Given the description of an element on the screen output the (x, y) to click on. 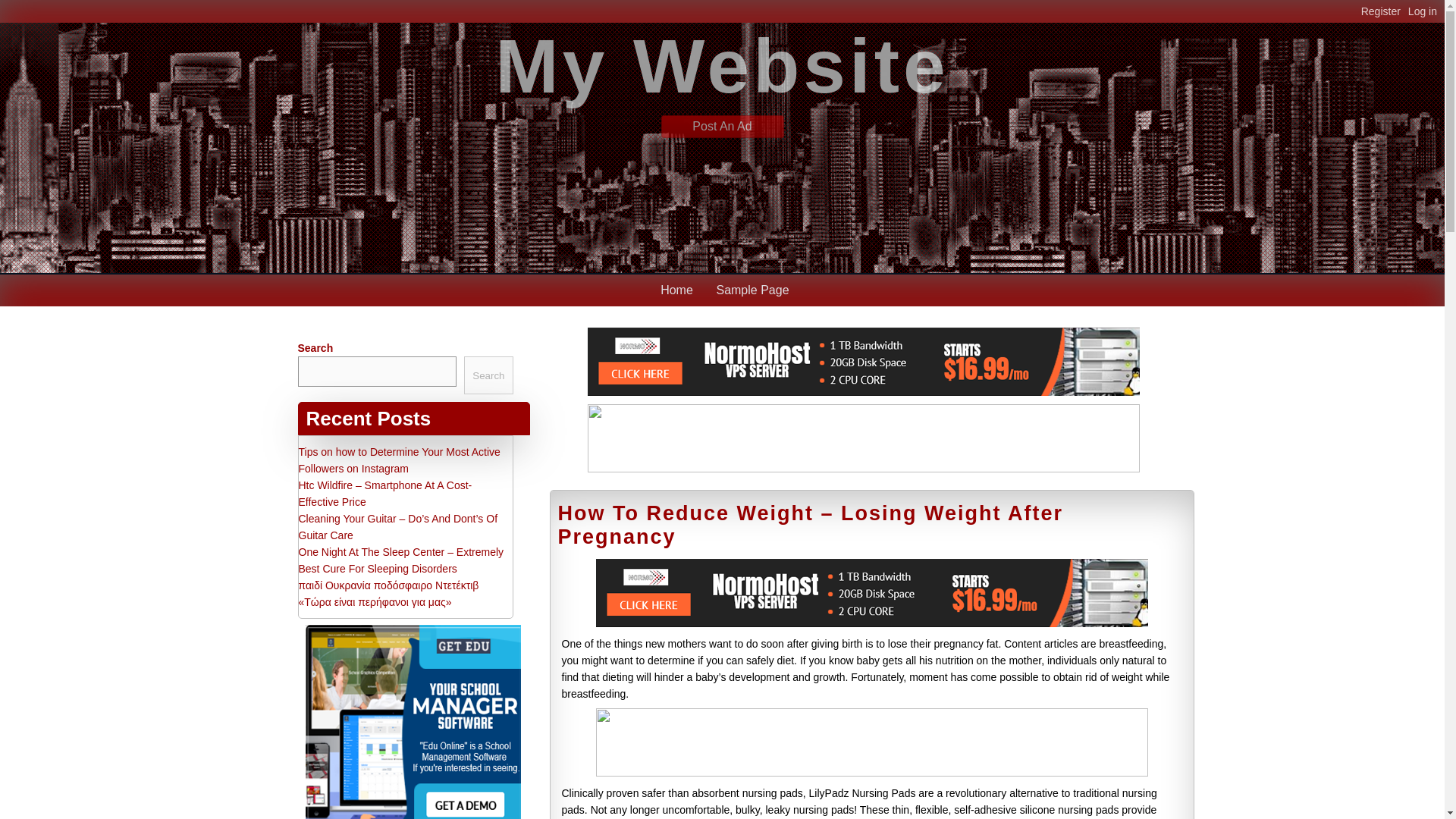
Register (1384, 10)
Home (676, 290)
Sample Page (751, 290)
Search (488, 374)
Post An Ad (722, 125)
